Given the description of an element on the screen output the (x, y) to click on. 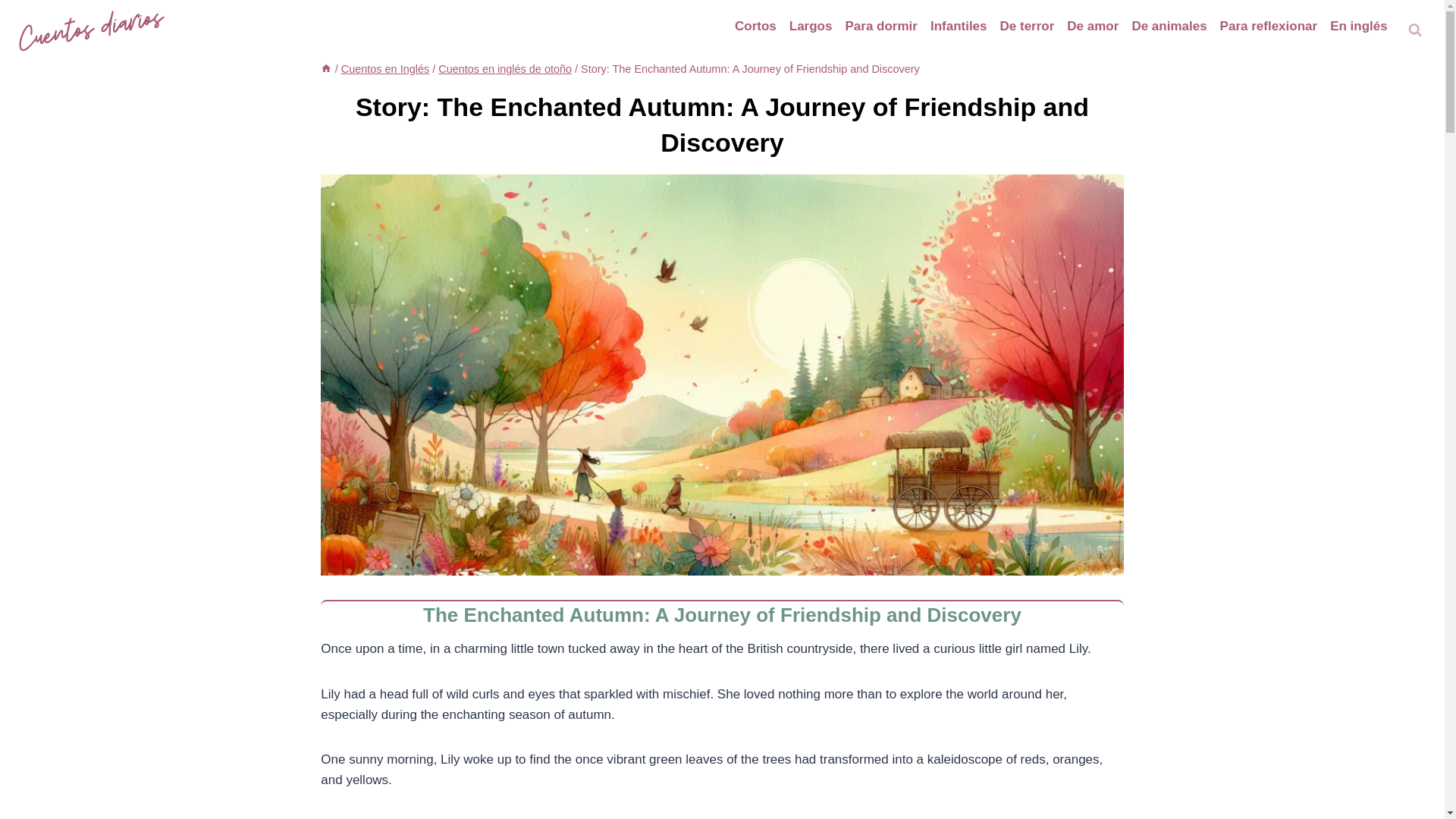
Infantiles (957, 26)
De animales (1168, 26)
Cortos (755, 26)
De amor (1093, 26)
Para reflexionar (1267, 26)
Para dormir (880, 26)
Largos (810, 26)
De terror (1026, 26)
